Given the description of an element on the screen output the (x, y) to click on. 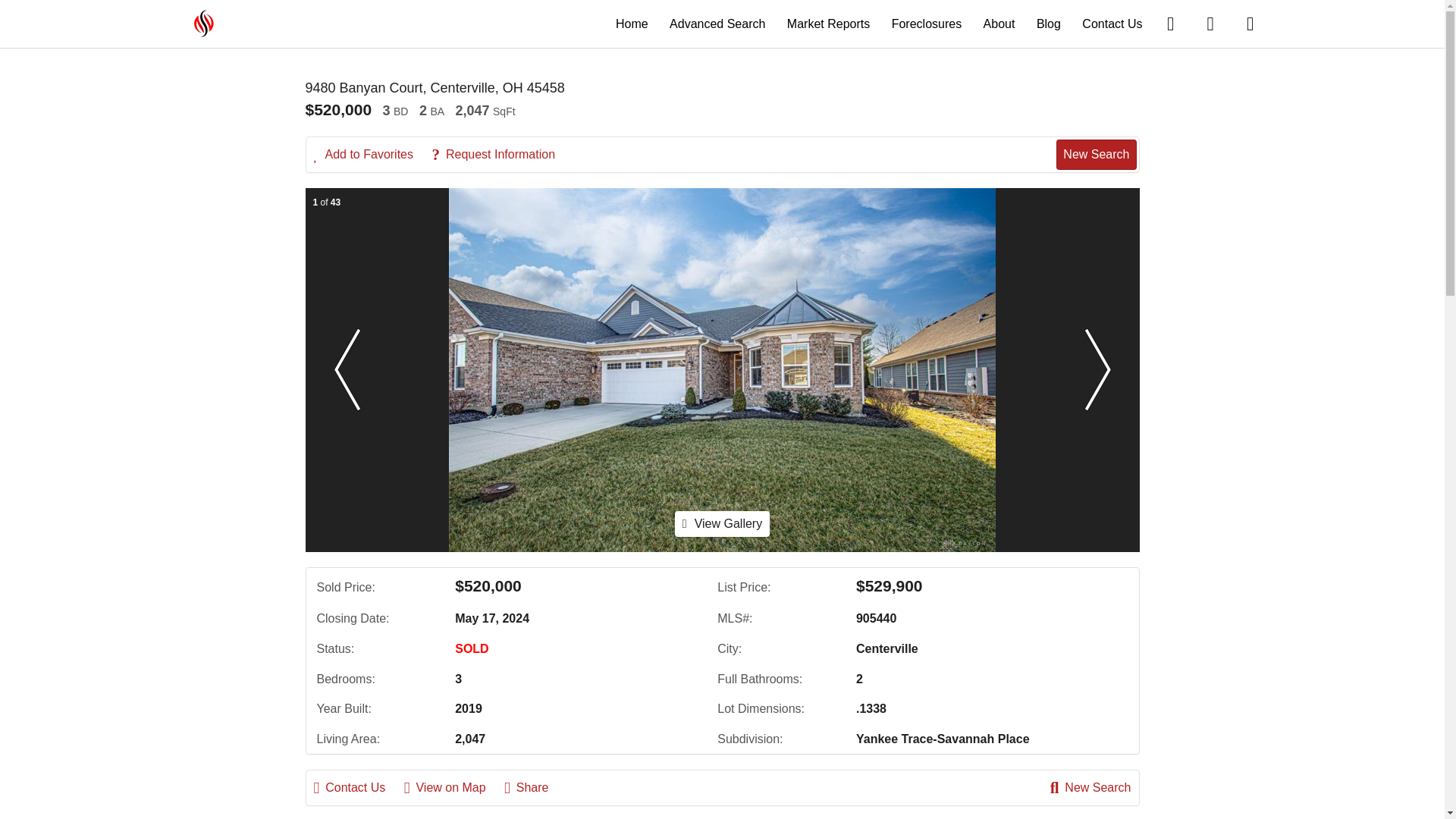
View Gallery (722, 522)
New Search (1090, 787)
Advanced Search (717, 23)
Share (533, 787)
Add to Favorites (371, 154)
New Search (1096, 154)
View Gallery (722, 524)
Home (631, 23)
Request Information (500, 154)
View on Map (452, 787)
